Given the description of an element on the screen output the (x, y) to click on. 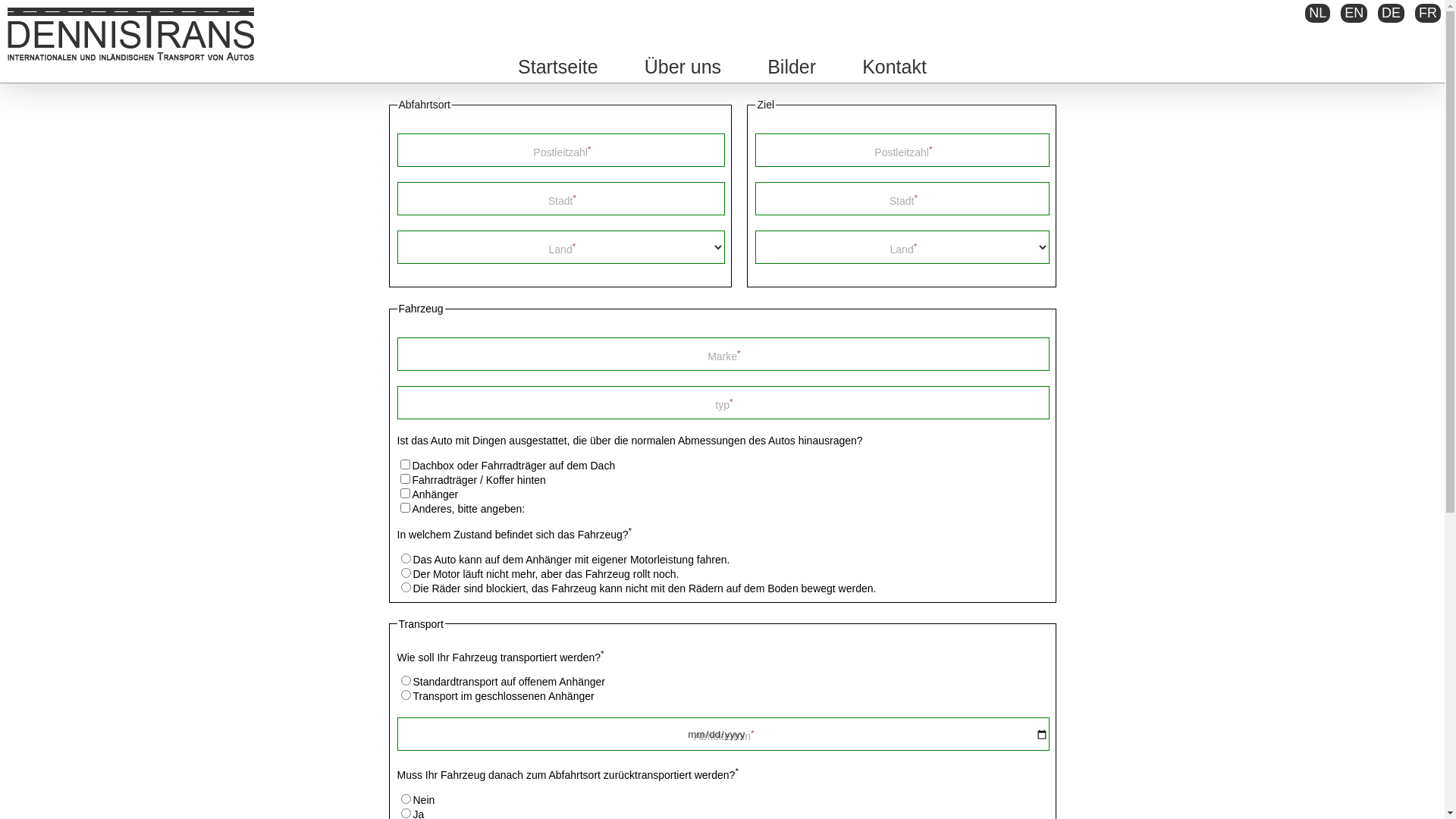
DE Element type: text (1390, 12)
NL Element type: text (1317, 12)
Startseite Element type: text (558, 67)
EN Element type: text (1353, 12)
Bilder Element type: text (791, 67)
FR Element type: text (1427, 12)
Kontakt Element type: text (894, 67)
